Given the description of an element on the screen output the (x, y) to click on. 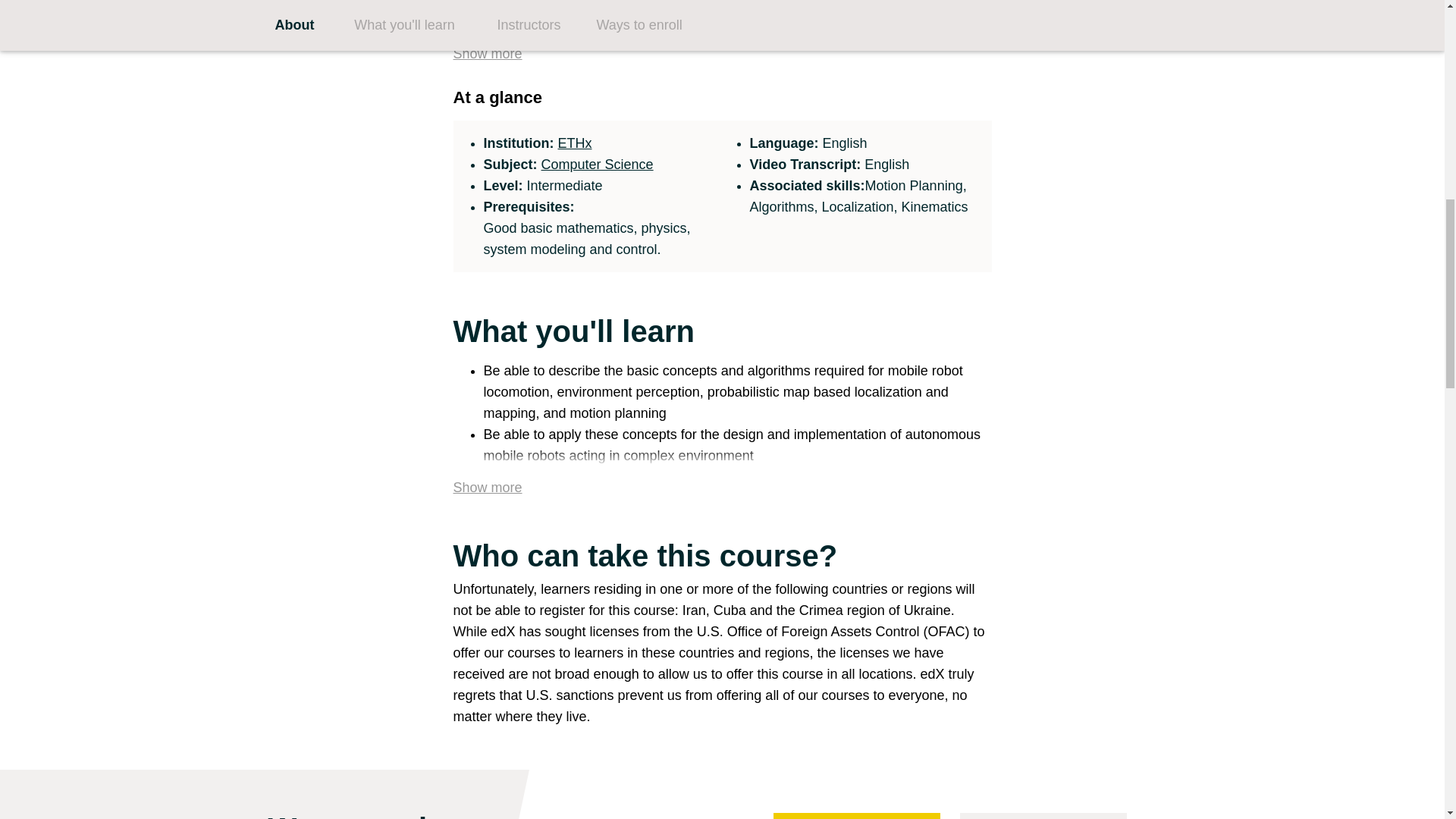
Show more (487, 484)
Show more (487, 50)
ETHx (574, 142)
Computer Science (597, 164)
